Given the description of an element on the screen output the (x, y) to click on. 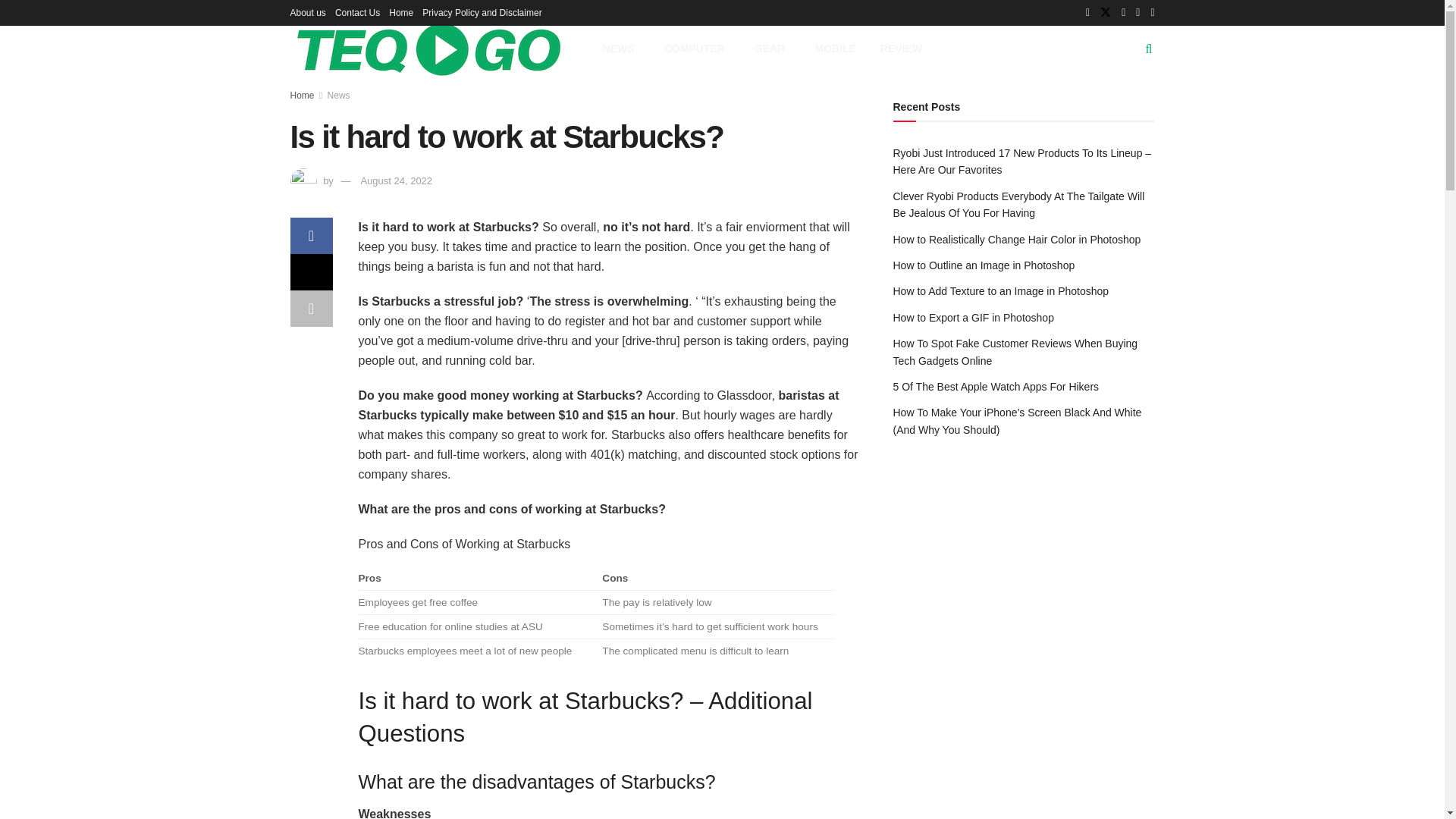
Privacy Policy and Disclaimer (481, 12)
NEWS (619, 48)
Contact Us (357, 12)
About us (306, 12)
Home (400, 12)
COMPUTER (697, 48)
GEAR (772, 48)
